Given the description of an element on the screen output the (x, y) to click on. 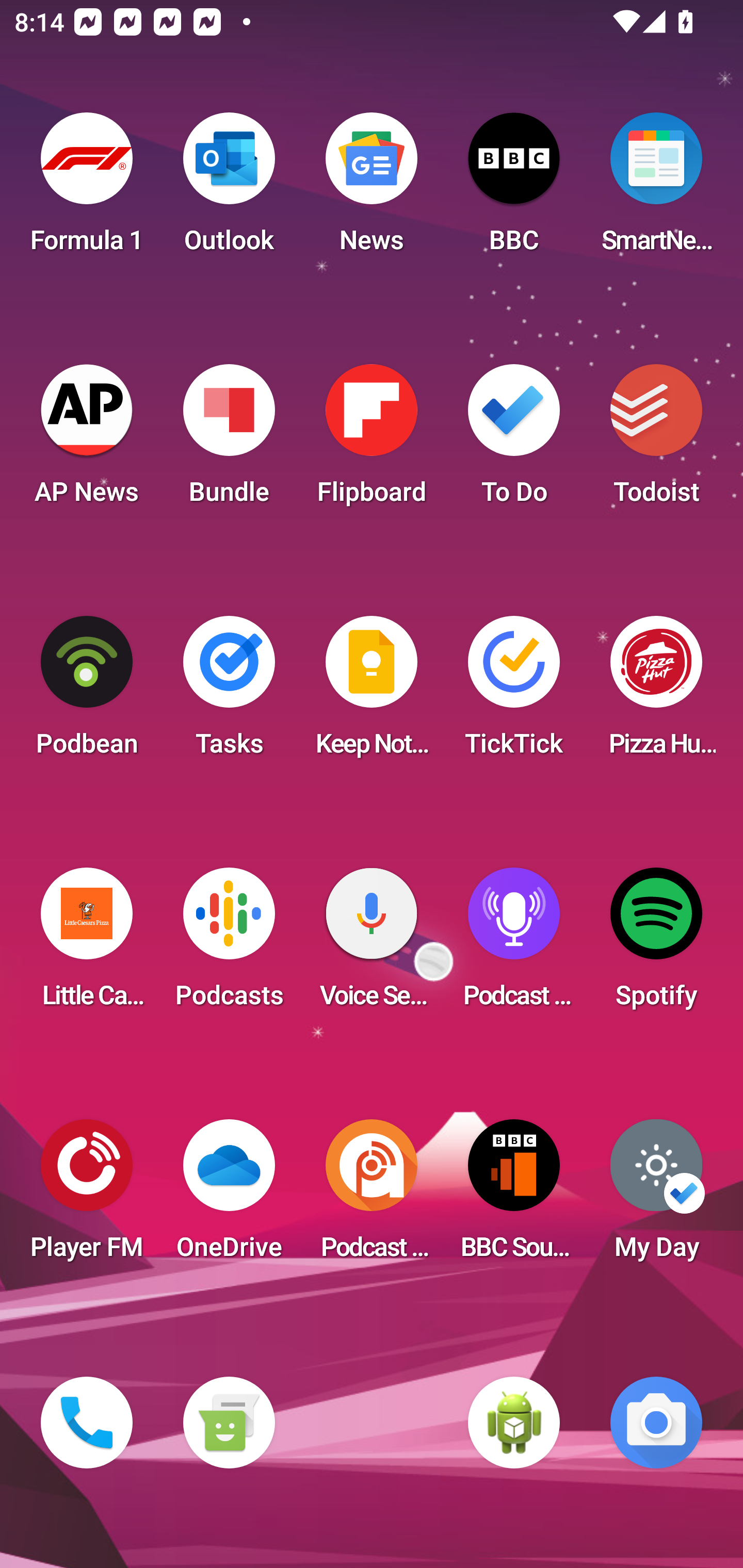
Formula 1 (86, 188)
Outlook (228, 188)
News (371, 188)
BBC (513, 188)
SmartNews (656, 188)
AP News (86, 440)
Bundle (228, 440)
Flipboard (371, 440)
To Do (513, 440)
Todoist (656, 440)
Podbean (86, 692)
Tasks (228, 692)
Keep Notes (371, 692)
TickTick (513, 692)
Pizza Hut HK & Macau (656, 692)
Little Caesars Pizza (86, 943)
Podcasts (228, 943)
Voice Search (371, 943)
Podcast Player (513, 943)
Spotify (656, 943)
Player FM (86, 1195)
OneDrive (228, 1195)
Podcast Addict (371, 1195)
BBC Sounds (513, 1195)
My Day (656, 1195)
Phone (86, 1422)
Messaging (228, 1422)
WebView Browser Tester (513, 1422)
Camera (656, 1422)
